Given the description of an element on the screen output the (x, y) to click on. 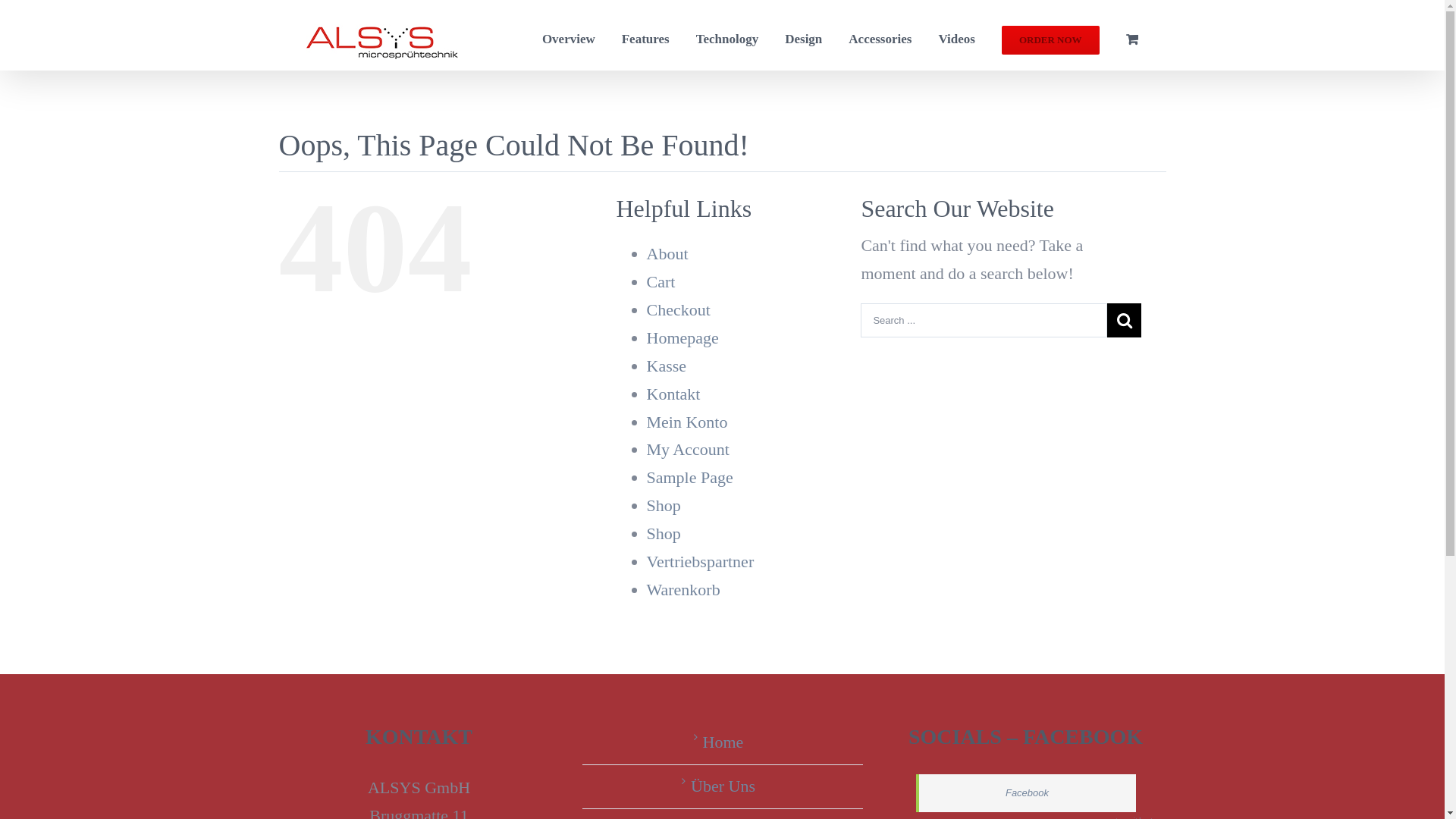
My Account Element type: text (687, 448)
Kasse Element type: text (666, 365)
Facebook Element type: text (1026, 792)
Design Element type: text (803, 35)
Kontakt Element type: text (672, 393)
About Element type: text (666, 253)
Cart Element type: text (660, 281)
Videos Element type: text (956, 35)
Home Element type: text (723, 742)
Shop Element type: text (663, 533)
ORDER NOW Element type: text (1050, 35)
Vertriebspartner Element type: text (699, 561)
Accessories Element type: text (879, 35)
Warenkorb Element type: text (682, 589)
Checkout Element type: text (677, 309)
Sample Page Element type: text (689, 476)
Features Element type: text (645, 35)
Shop Element type: text (663, 504)
Overview Element type: text (568, 35)
Mein Konto Element type: text (686, 421)
Homepage Element type: text (682, 337)
Technology Element type: text (727, 35)
